Given the description of an element on the screen output the (x, y) to click on. 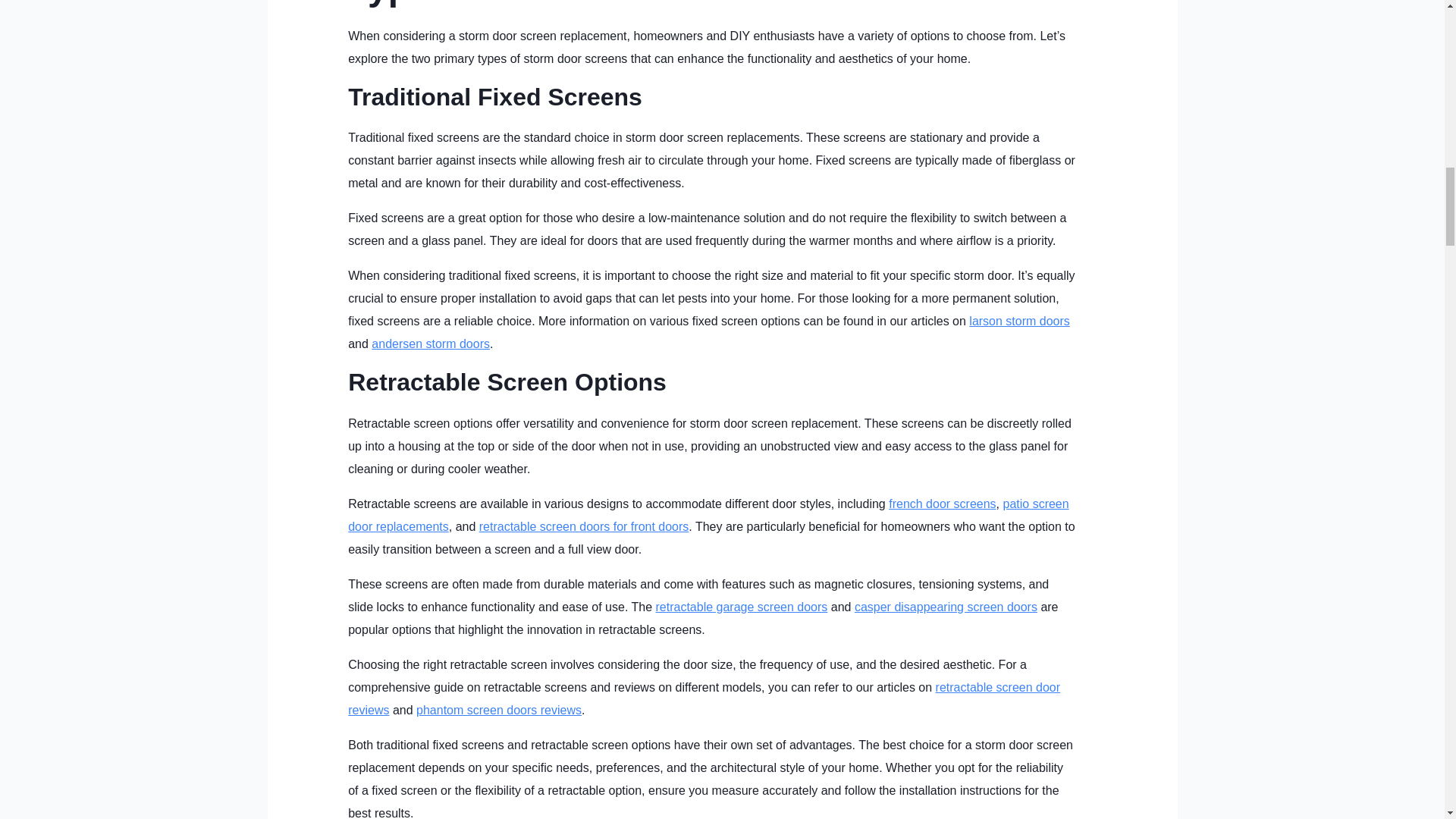
french door screens (941, 503)
retractable garage screen doors (742, 606)
retractable screen doors for front doors (583, 526)
larson storm doors (1019, 320)
andersen storm doors (430, 343)
patio screen door replacements (707, 515)
